Given the description of an element on the screen output the (x, y) to click on. 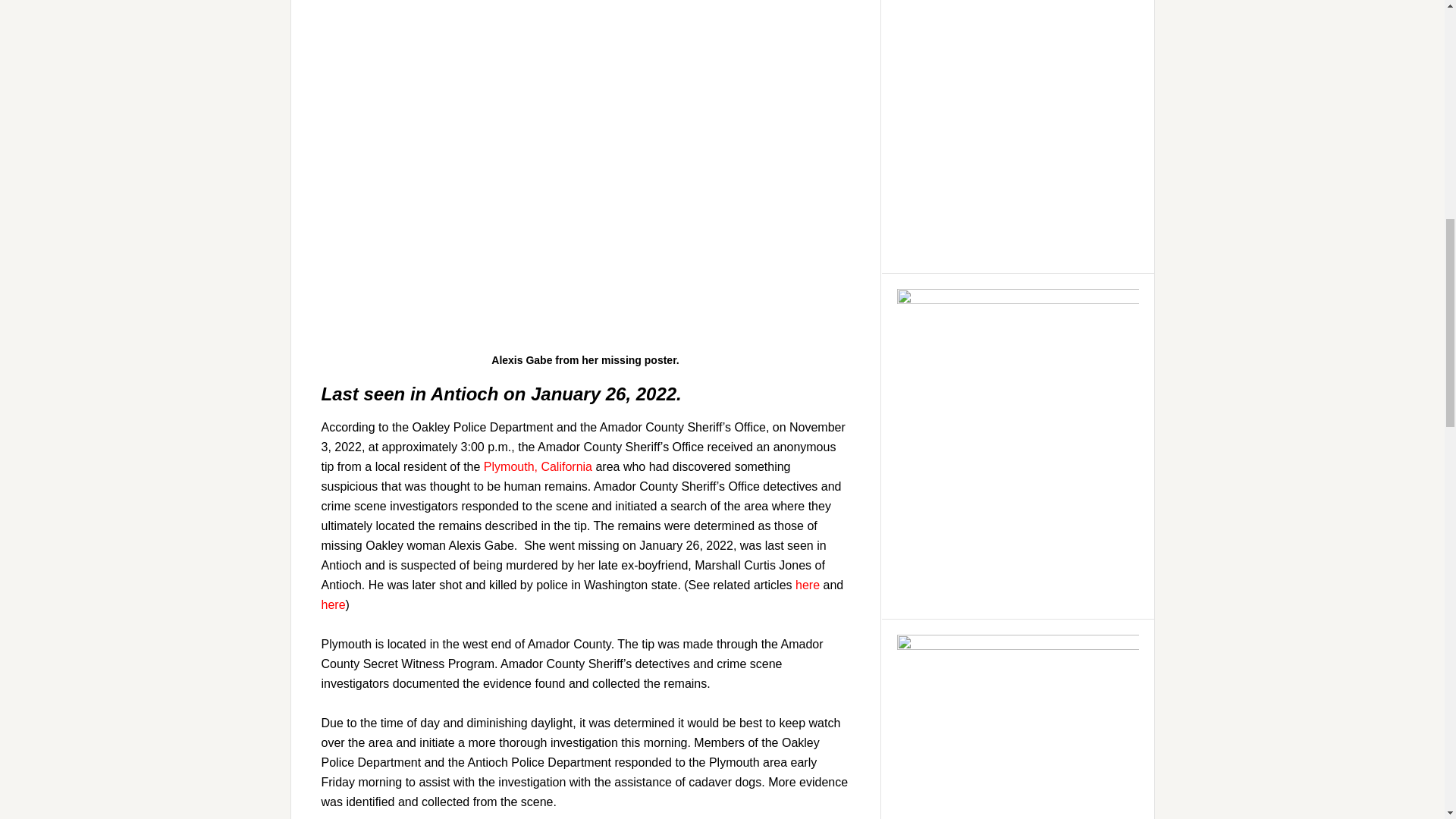
Plymouth, California (537, 466)
here (806, 584)
here (333, 604)
